Given the description of an element on the screen output the (x, y) to click on. 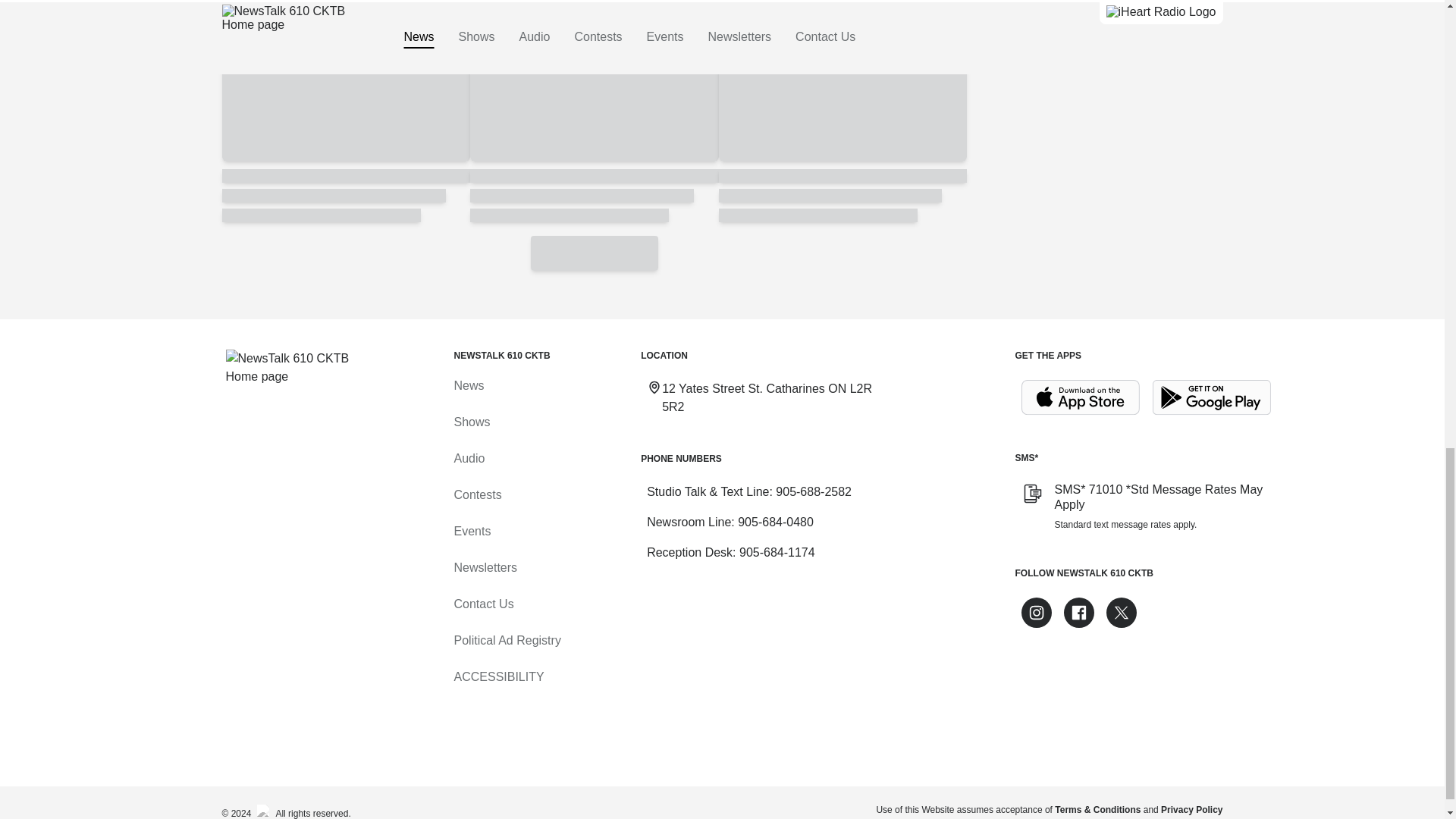
Political Ad Registry (506, 640)
Accessibility (497, 676)
Privacy Policy (1191, 809)
Privacy Policy (1191, 809)
905-688-2582 (813, 491)
905-684-1174 (777, 552)
Audio (468, 458)
Newsletters (484, 567)
Events (471, 530)
Download on the App Store (1080, 397)
